Given the description of an element on the screen output the (x, y) to click on. 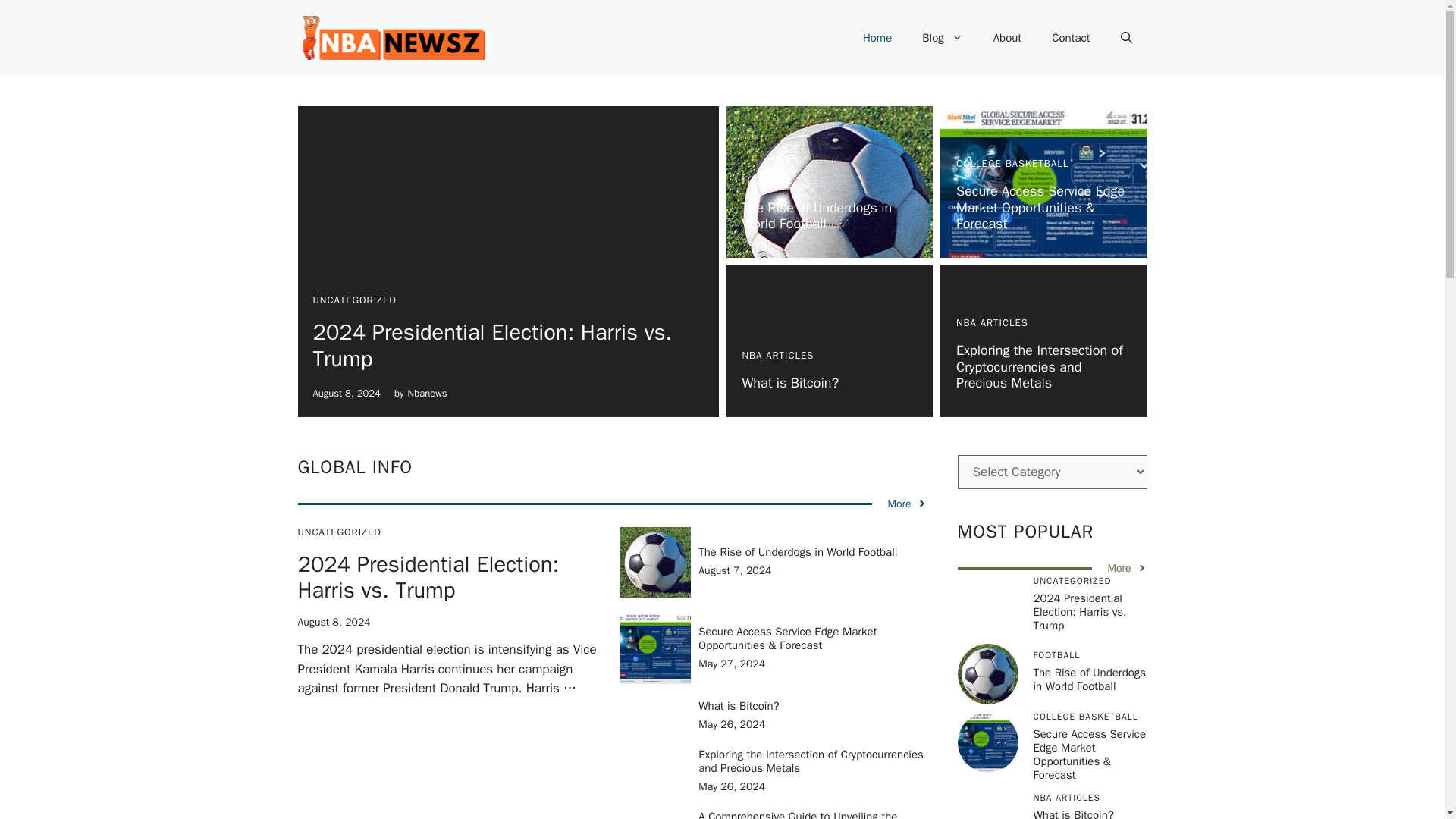
Contact (1070, 37)
The Rise of Underdogs in World Football (797, 551)
NBA ARTICLES (991, 322)
2024 Presidential Election: Harris vs. Trump (428, 577)
Home (877, 37)
COLLEGE BASKETBALL (1012, 163)
NBA ARTICLES (777, 354)
